Given the description of an element on the screen output the (x, y) to click on. 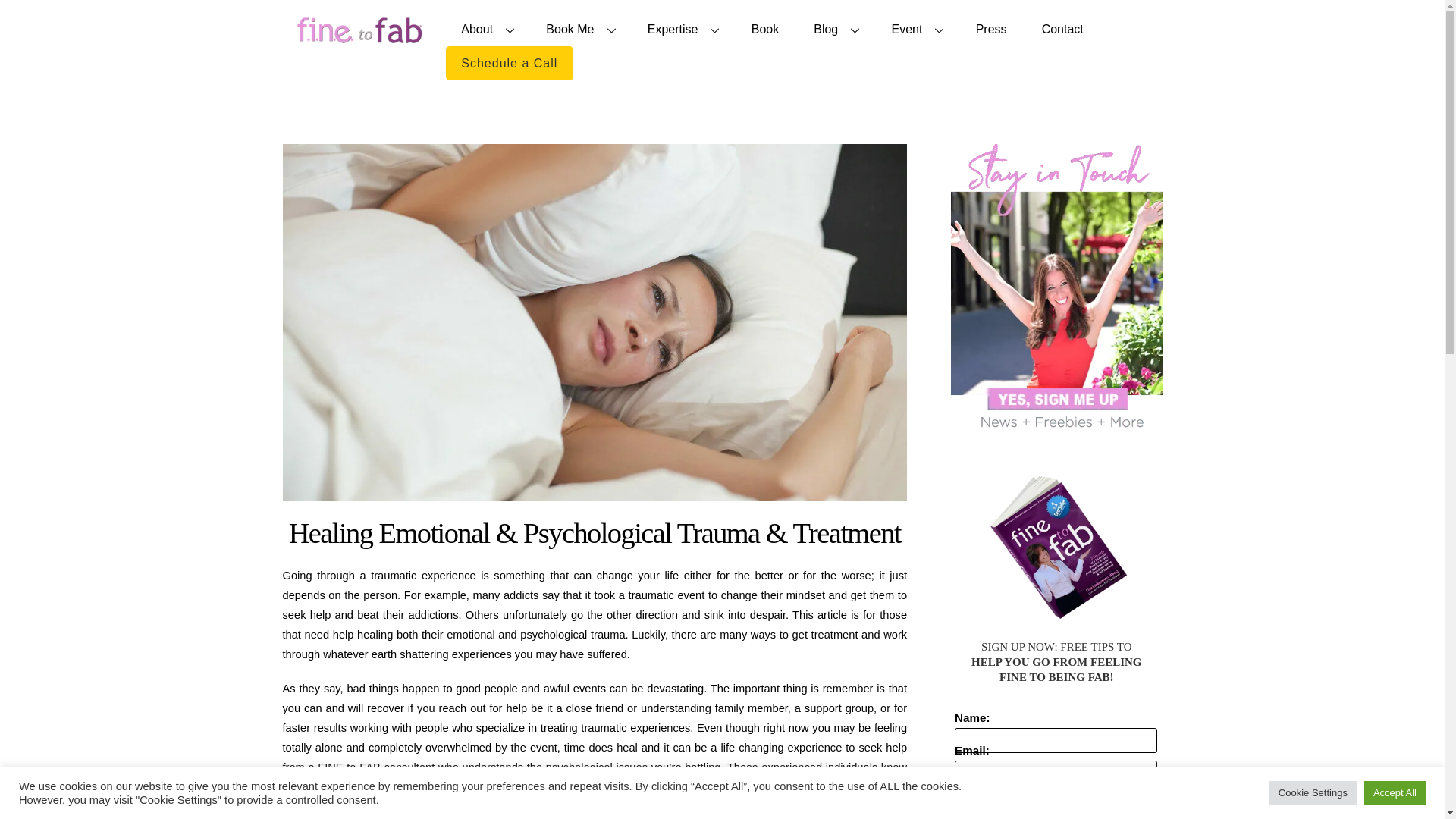
Book (764, 28)
Expertise (681, 28)
Press (991, 28)
Submit (1056, 811)
Blog (834, 28)
Event (916, 28)
Book Me (579, 28)
Schedule a Call (509, 62)
About (486, 28)
Contact (1062, 28)
